Given the description of an element on the screen output the (x, y) to click on. 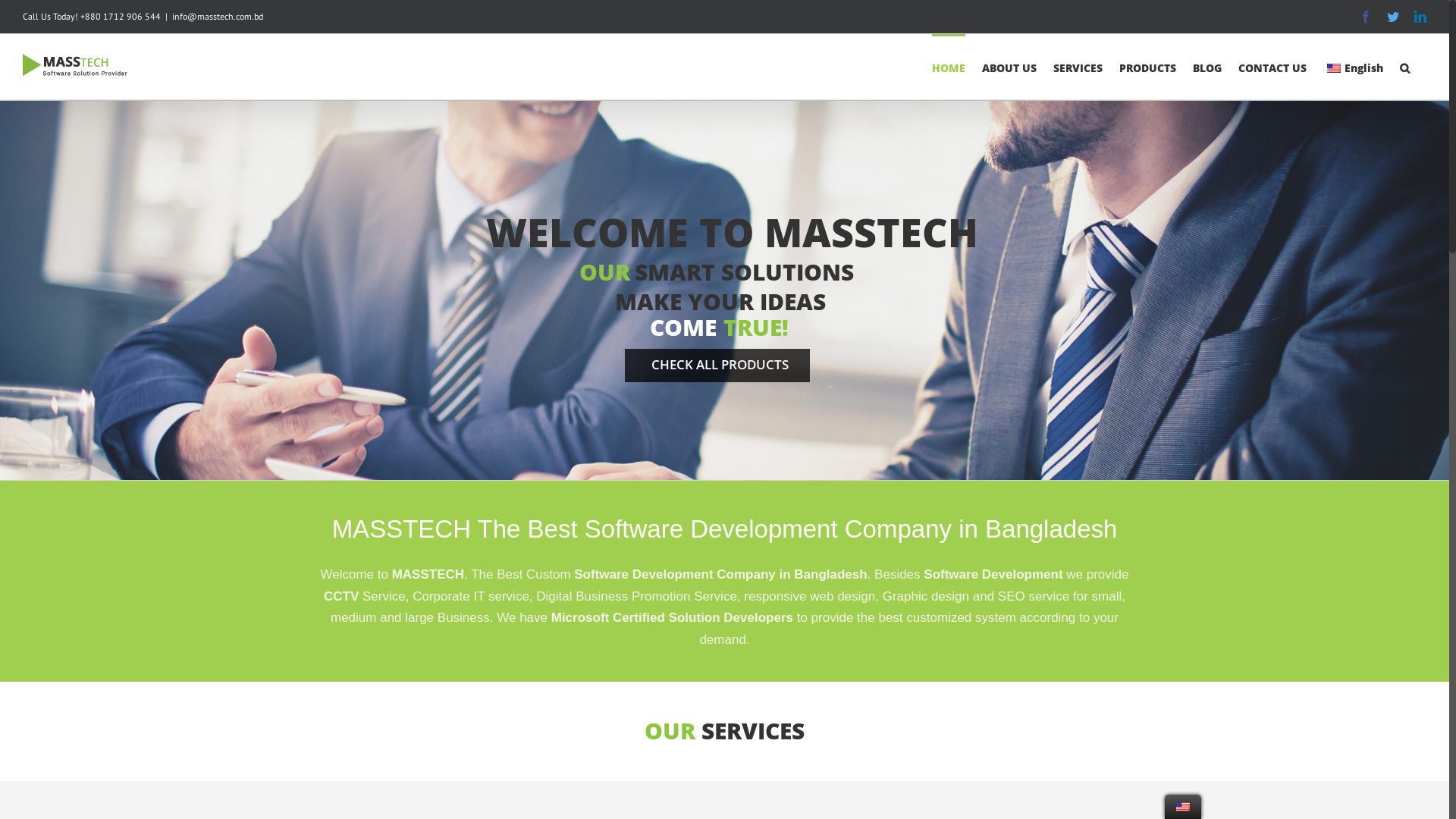
LinkedIn Element type: text (1420, 16)
Facebook Element type: text (1365, 16)
English Element type: text (1353, 66)
ABOUT US Element type: text (1009, 66)
info@masstech.com.bd Element type: text (217, 15)
CONTACT US Element type: text (1272, 66)
HOME Element type: text (948, 66)
PRODUCTS Element type: text (1147, 66)
BLOG Element type: text (1206, 66)
English Element type: hover (1182, 806)
English Element type: hover (1333, 67)
SERVICES Element type: text (1077, 66)
Twitter Element type: text (1392, 16)
Search Element type: hover (1404, 66)
